Given the description of an element on the screen output the (x, y) to click on. 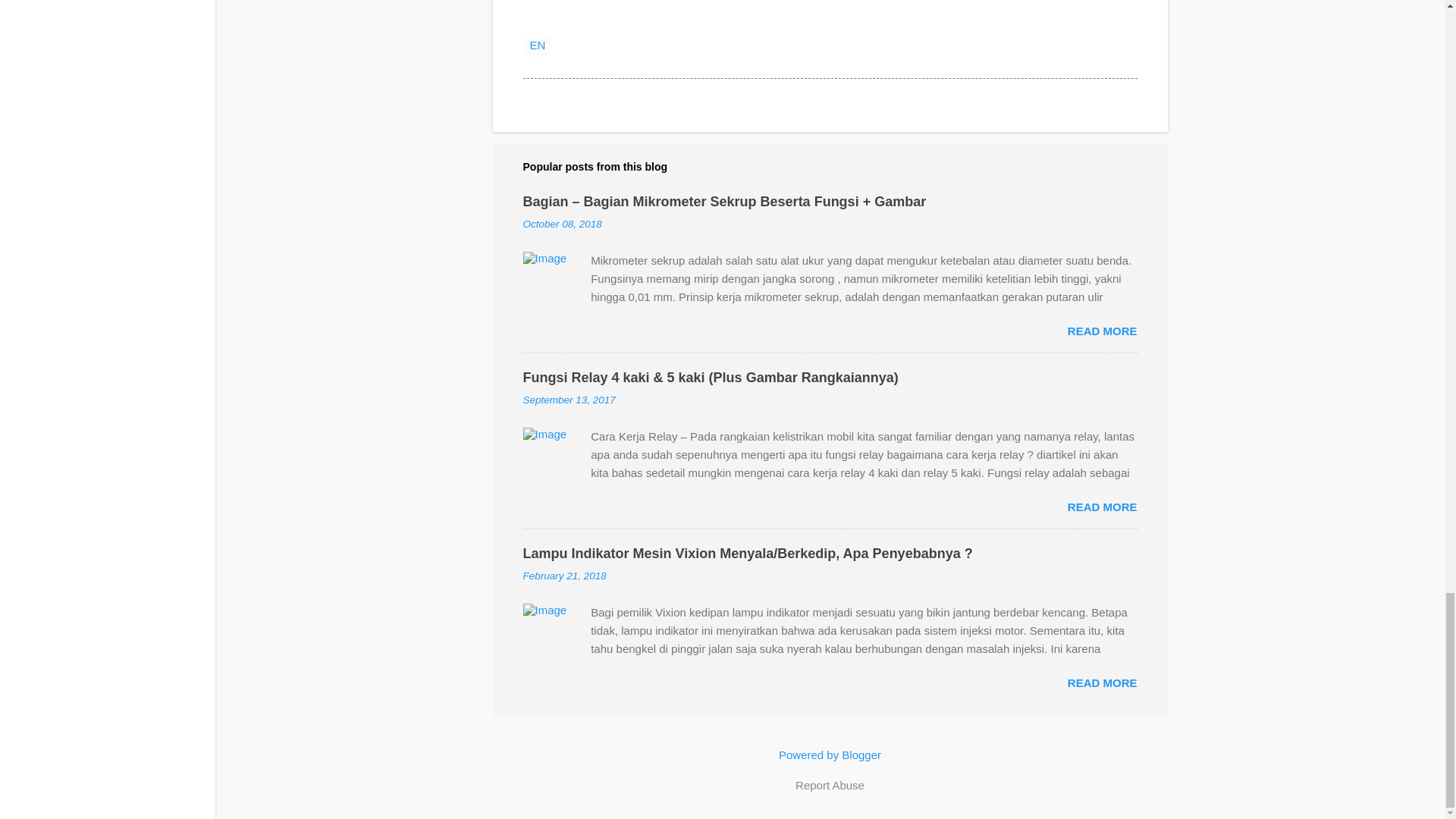
February 21, 2018 (564, 575)
Powered by Blogger (829, 754)
READ MORE (1102, 506)
permanent link (562, 224)
READ MORE (1102, 330)
EN (537, 44)
September 13, 2017 (568, 399)
October 08, 2018 (562, 224)
READ MORE (1102, 682)
Report Abuse (829, 785)
